Given the description of an element on the screen output the (x, y) to click on. 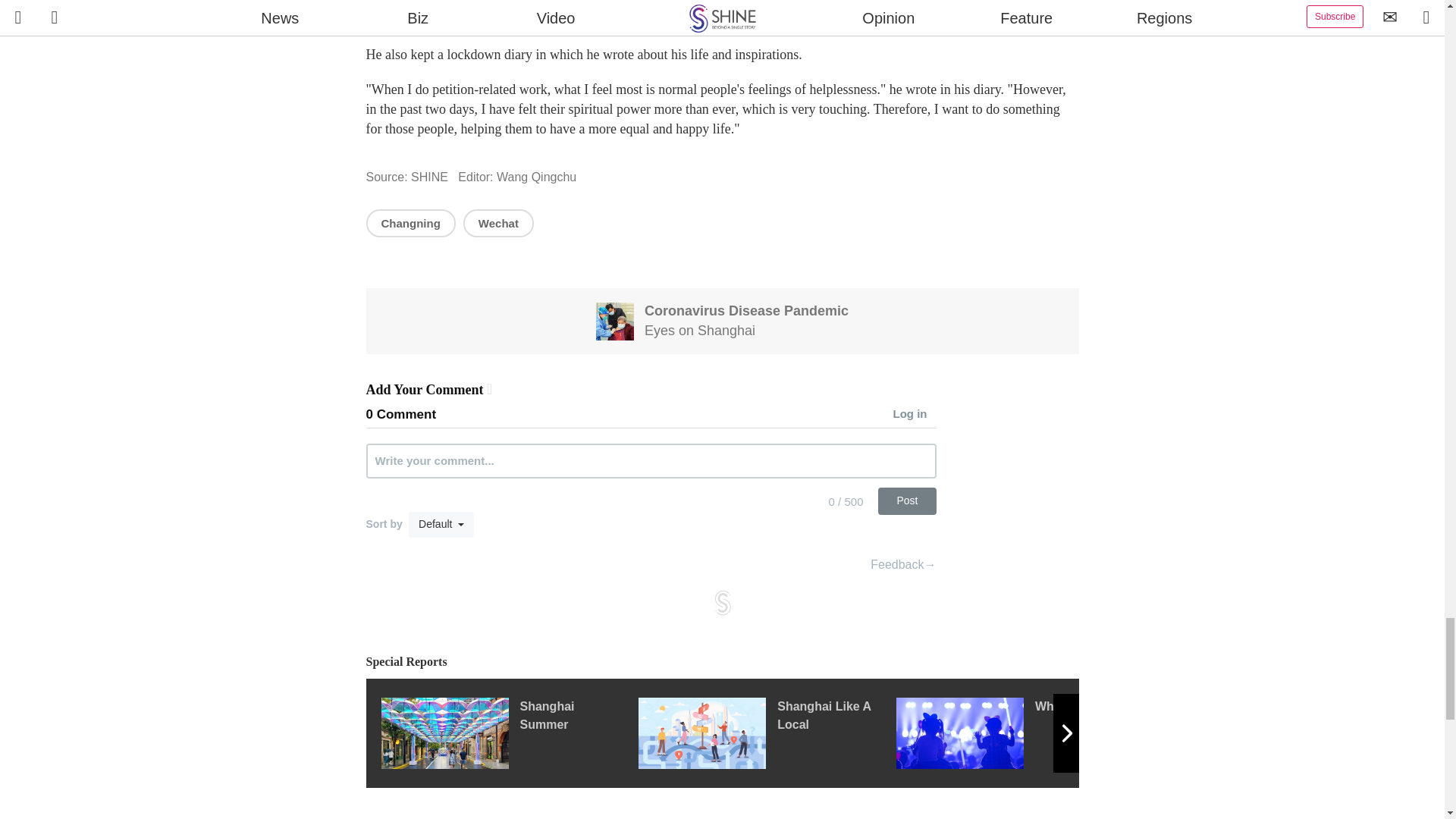
Eyes on Shanghai (700, 330)
Coronavirus Disease Pandemic (746, 310)
Default   (441, 524)
Wechat (498, 223)
Log in (914, 414)
Changning (409, 223)
Special Reports (721, 661)
